Given the description of an element on the screen output the (x, y) to click on. 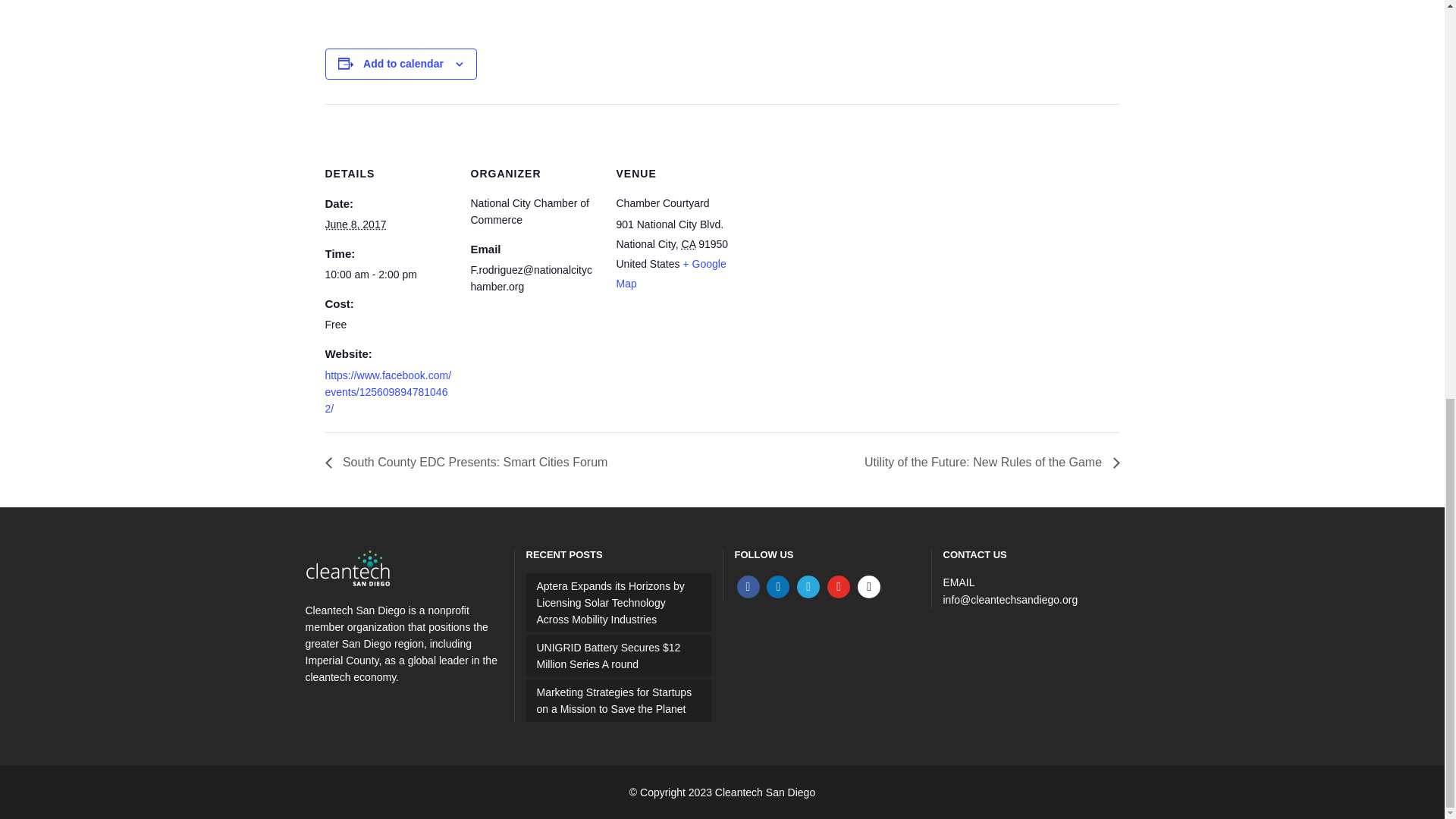
California (688, 244)
Click to view a Google Map (670, 273)
2017-06-08 (387, 274)
2017-06-08 (354, 224)
